Given the description of an element on the screen output the (x, y) to click on. 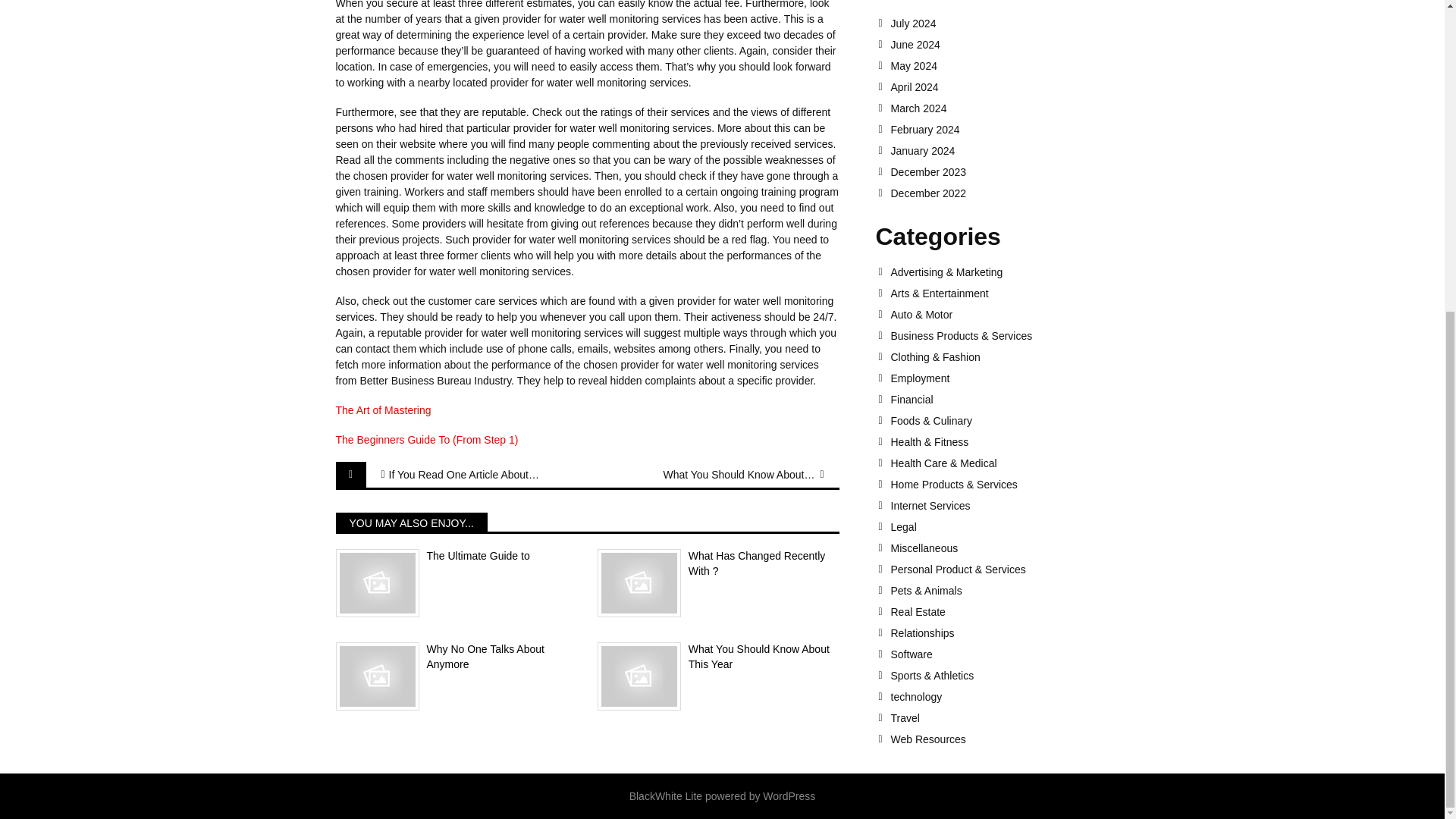
January 2024 (998, 150)
The Art of Mastering (382, 410)
What You Should Know About This Year (739, 474)
The Ultimate Guide to (455, 556)
December 2022 (998, 193)
Employment (998, 378)
June 2024 (998, 44)
If You Read One Article About , Read This One (464, 474)
What Has Changed Recently With ? (718, 563)
April 2024 (998, 87)
December 2023 (998, 172)
What You Should Know About This Year (718, 656)
May 2024 (998, 65)
Why No One Talks About Anymore (455, 656)
March 2024 (998, 108)
